Given the description of an element on the screen output the (x, y) to click on. 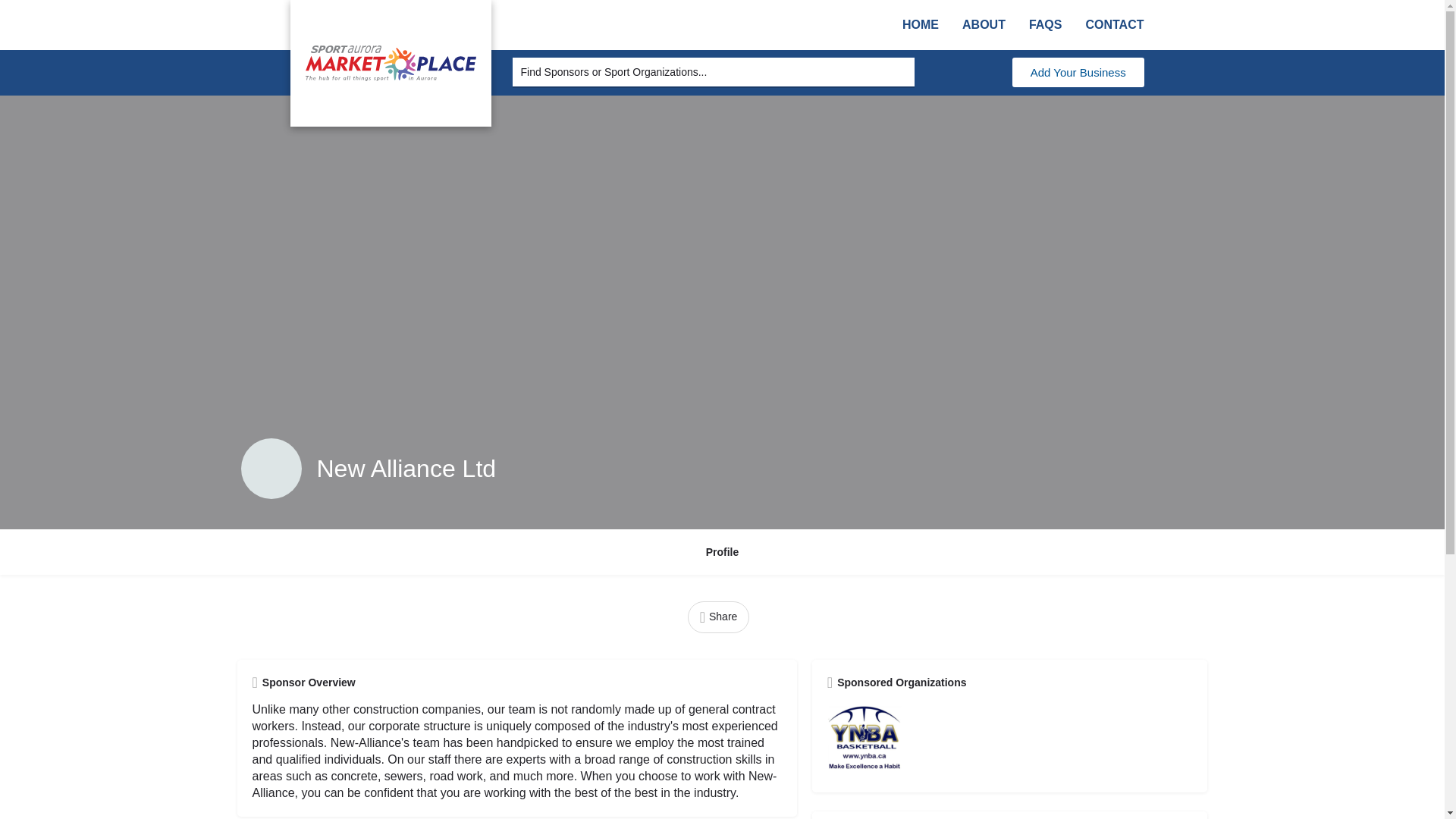
Share (718, 616)
CONTACT (1114, 24)
Profile (722, 551)
HOME (920, 24)
New Alliance (271, 468)
ABOUT (984, 24)
Add Your Business (1077, 71)
FAQS (1045, 24)
